Given the description of an element on the screen output the (x, y) to click on. 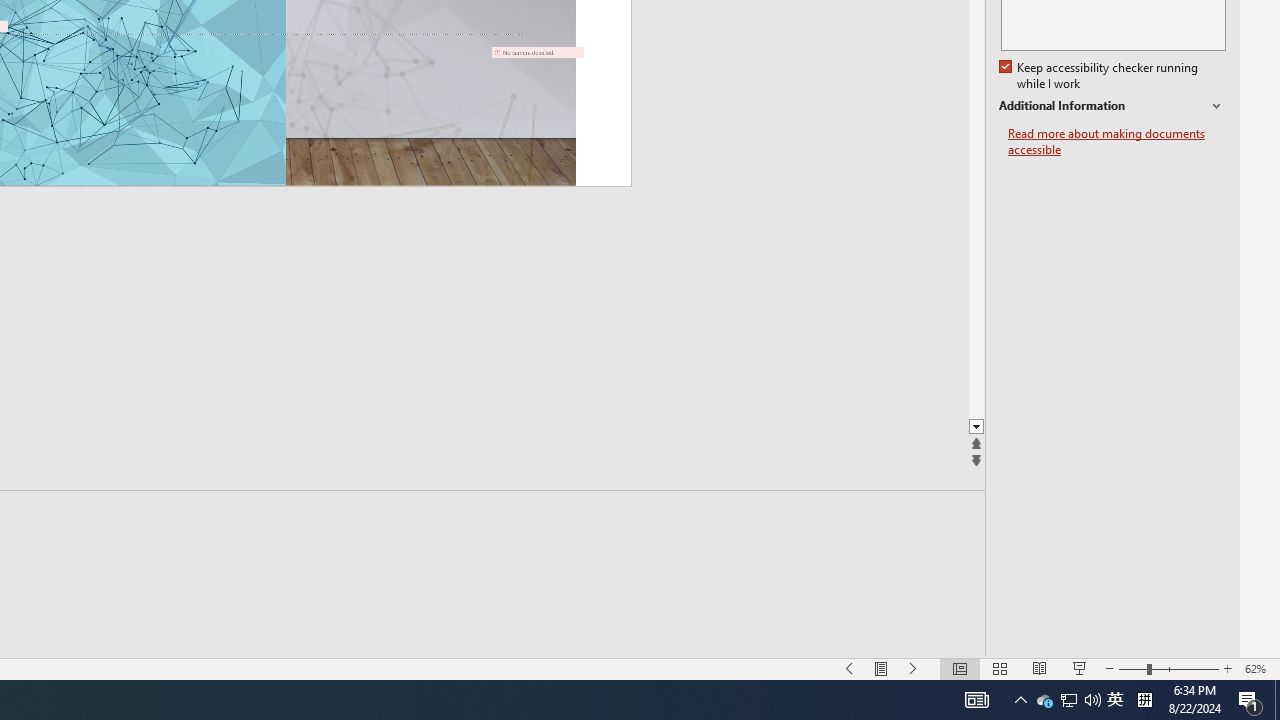
Zoom 62% (1258, 668)
Menu On (882, 668)
Slide Show Next On (914, 668)
Slide Show Previous On (850, 668)
